Given the description of an element on the screen output the (x, y) to click on. 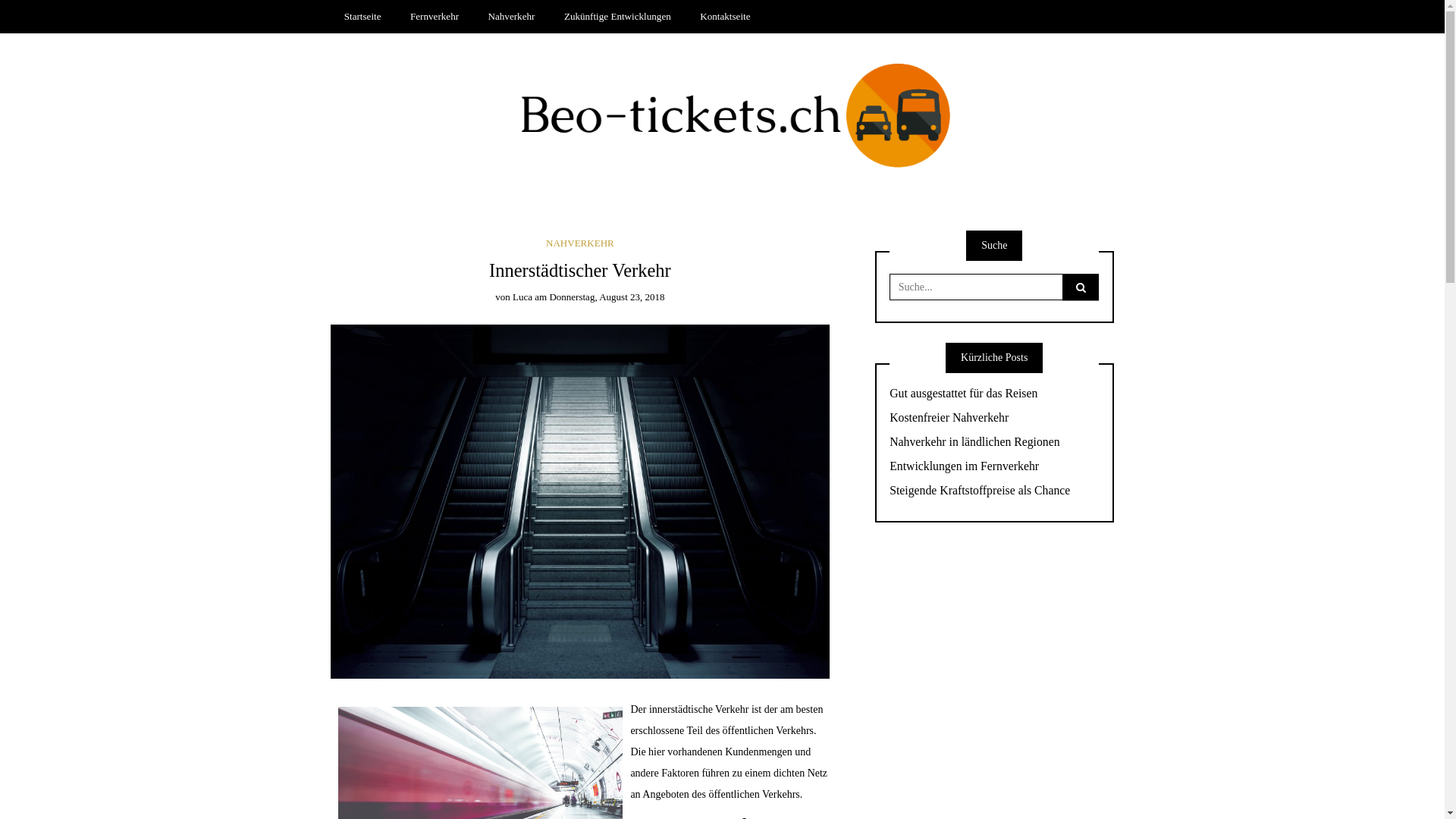
Suche Element type: text (29, 14)
NAHVERKEHR Element type: text (580, 242)
Startseite Element type: text (362, 16)
Entwicklungen im Fernverkehr Element type: text (993, 466)
Kostenfreier Nahverkehr Element type: text (993, 418)
Nahverkehr Element type: text (511, 16)
Luca Element type: text (522, 296)
Kontaktseite Element type: text (725, 16)
Steigende Kraftstoffpreise als Chance Element type: text (993, 490)
Donnerstag, August 23, 2018 Element type: text (606, 296)
Fernverkehr Element type: text (434, 16)
